Given the description of an element on the screen output the (x, y) to click on. 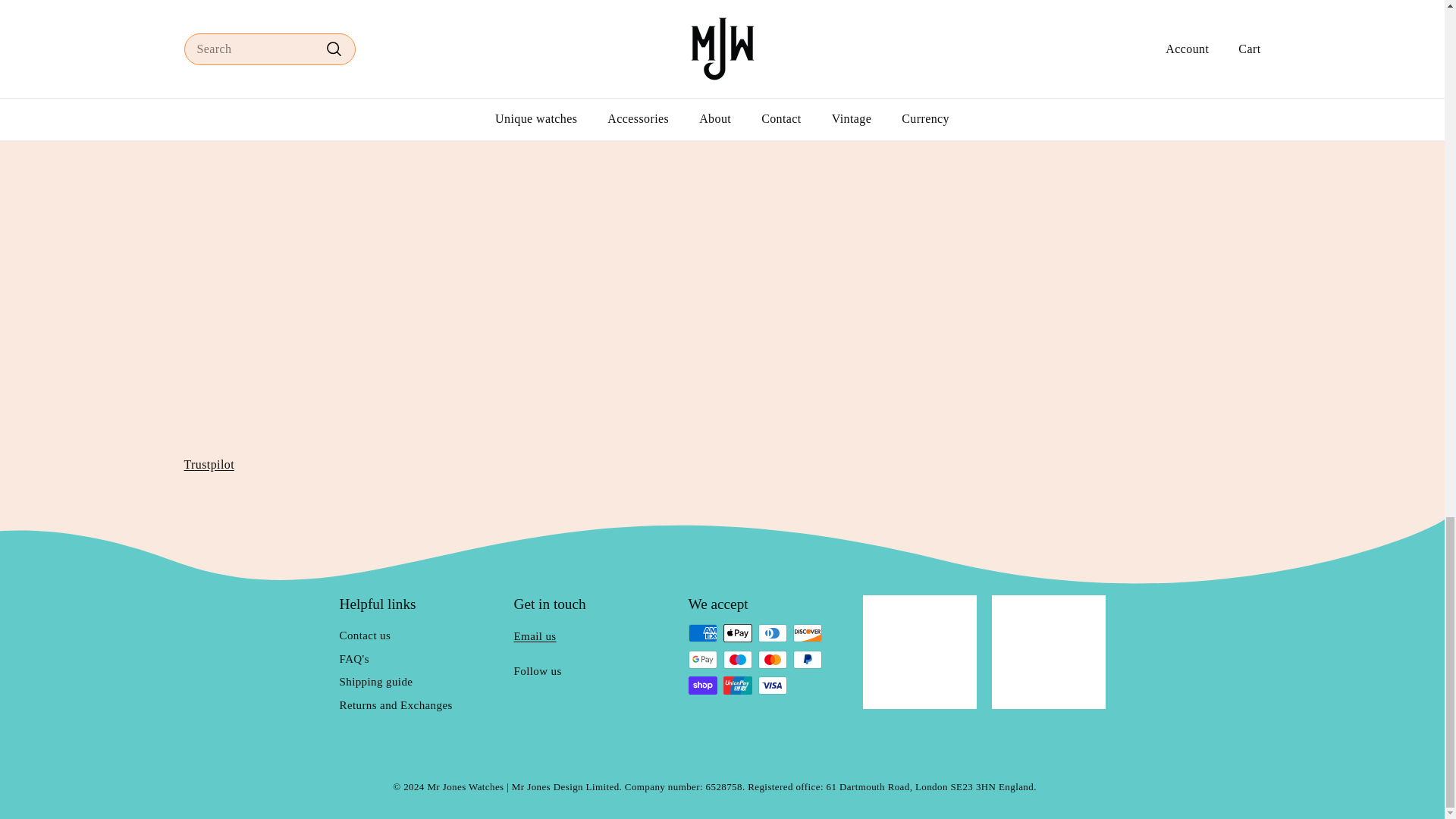
Diners Club (772, 633)
Union Pay (737, 685)
Google Pay (702, 659)
Apple Pay (737, 633)
Maestro (737, 659)
American Express (702, 633)
Mastercard (772, 659)
Visa (772, 685)
PayPal (807, 659)
Discover (807, 633)
